Given the description of an element on the screen output the (x, y) to click on. 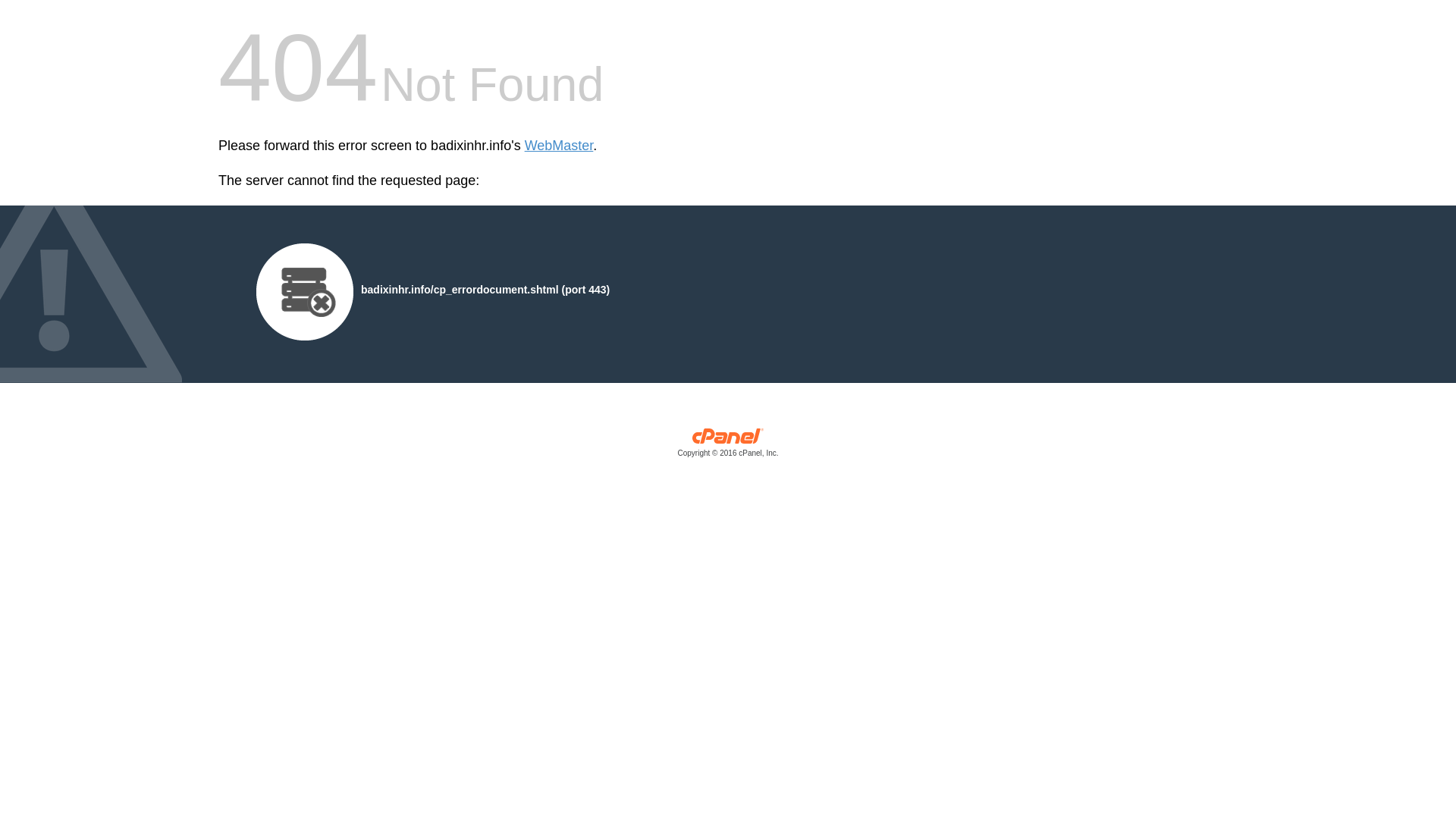
WebMaster (559, 145)
cPanel, Inc. (727, 446)
